Given the description of an element on the screen output the (x, y) to click on. 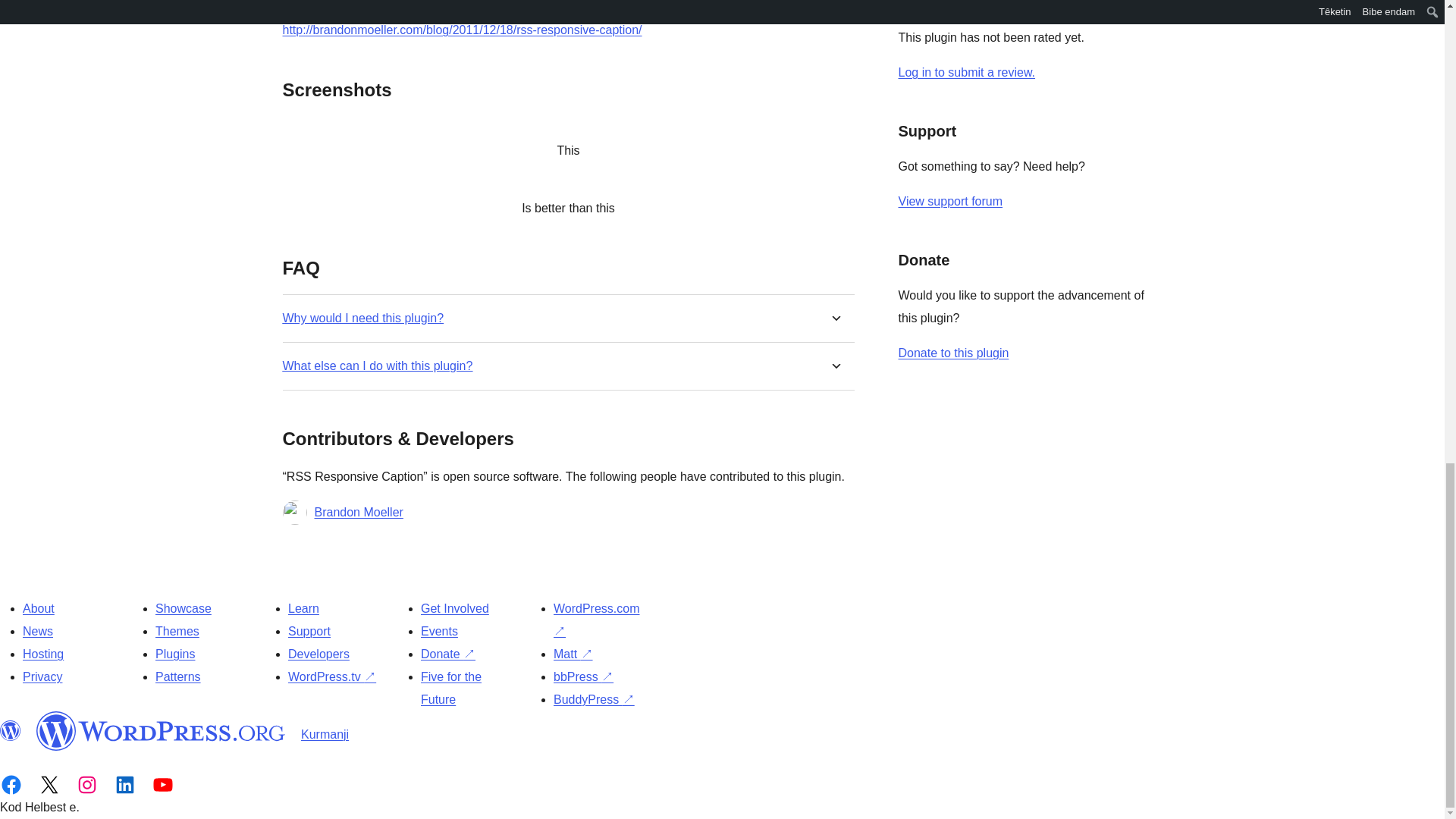
Log in to WordPress.org (966, 72)
WordPress.org (10, 731)
What else can I do with this plugin? (376, 365)
WordPress.org (160, 731)
Why would I need this plugin? (363, 318)
